Given the description of an element on the screen output the (x, y) to click on. 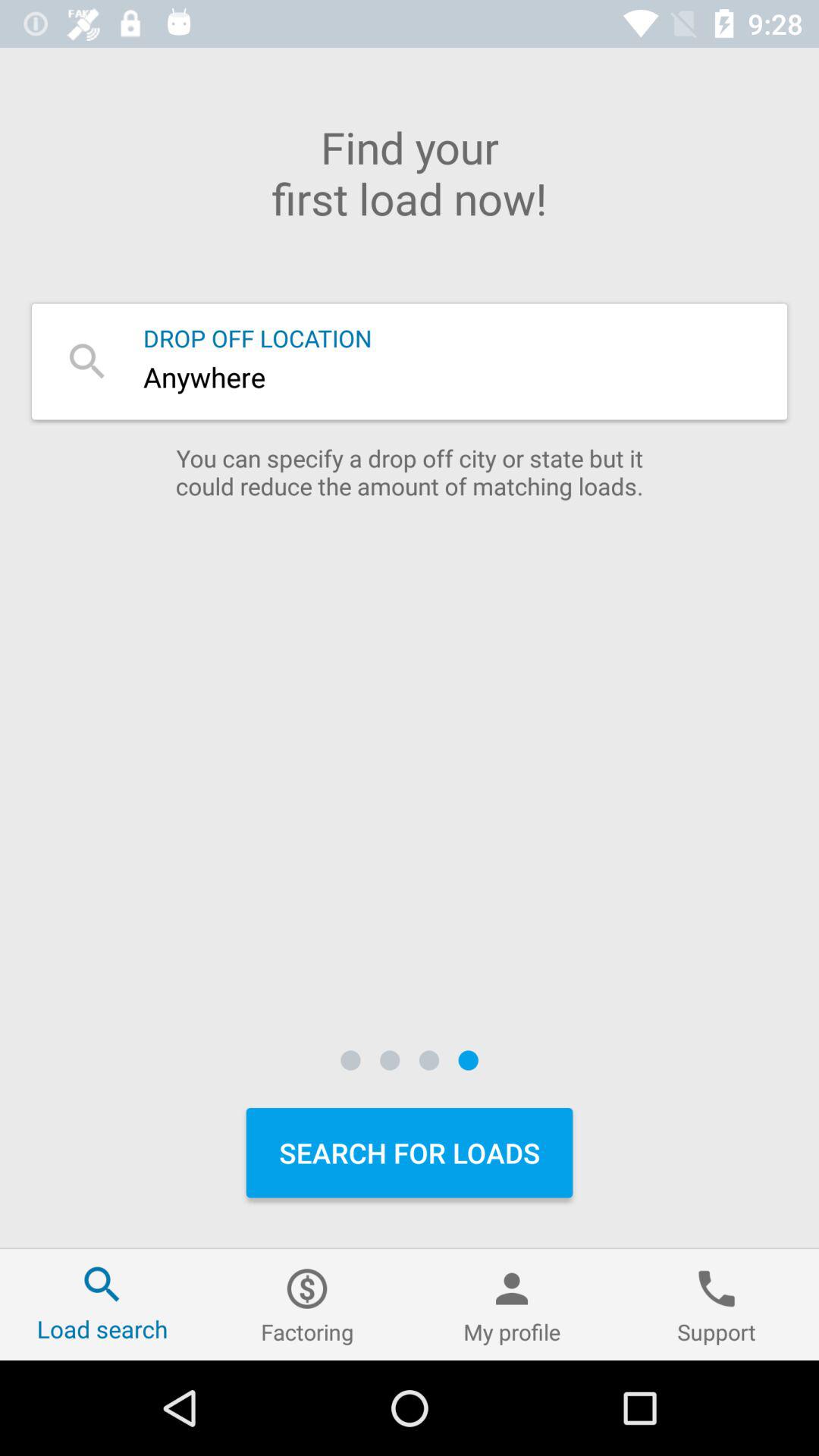
flip to the my profile icon (511, 1304)
